Given the description of an element on the screen output the (x, y) to click on. 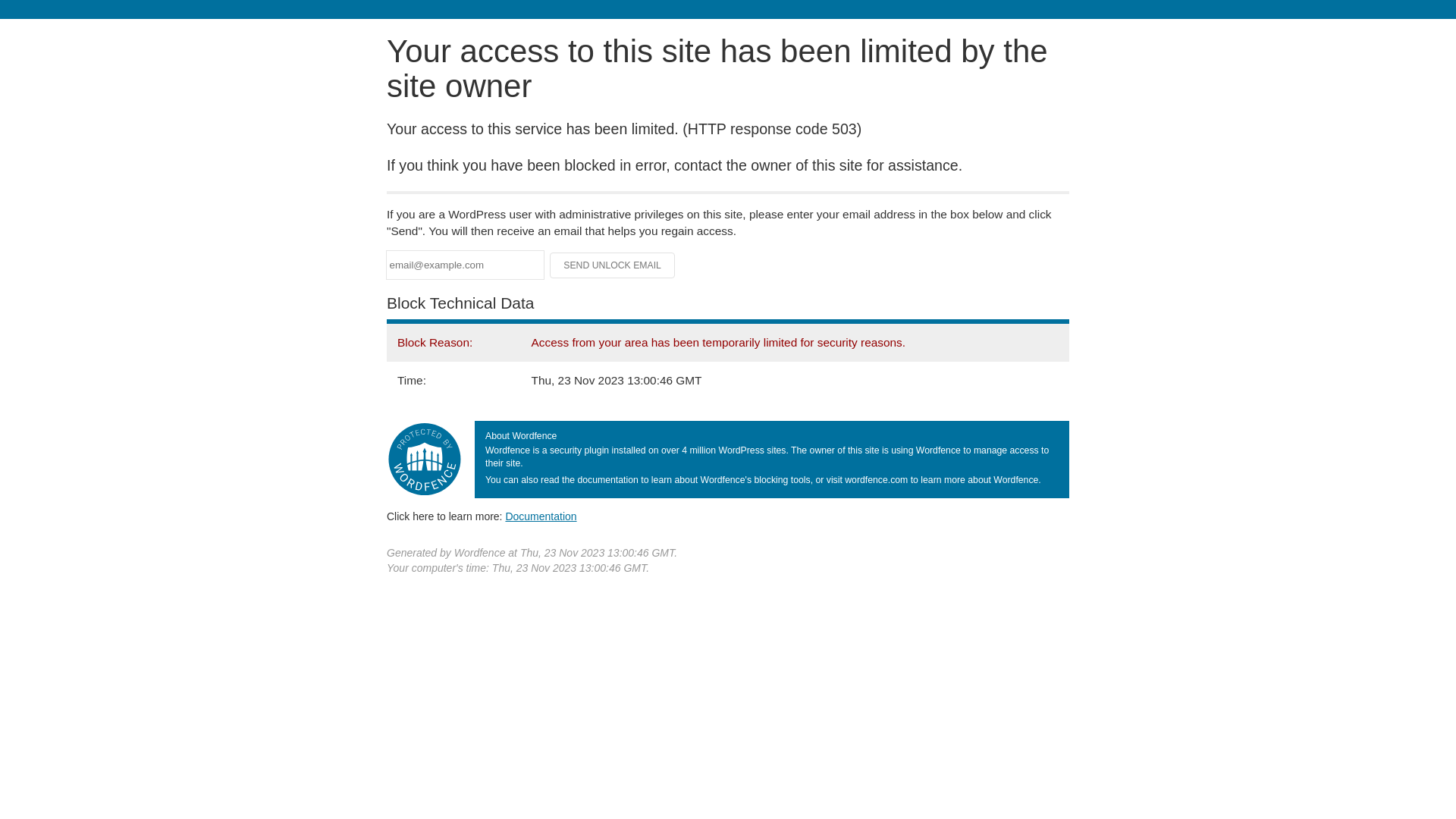
Send Unlock Email Element type: text (612, 265)
Documentation Element type: text (540, 516)
